Given the description of an element on the screen output the (x, y) to click on. 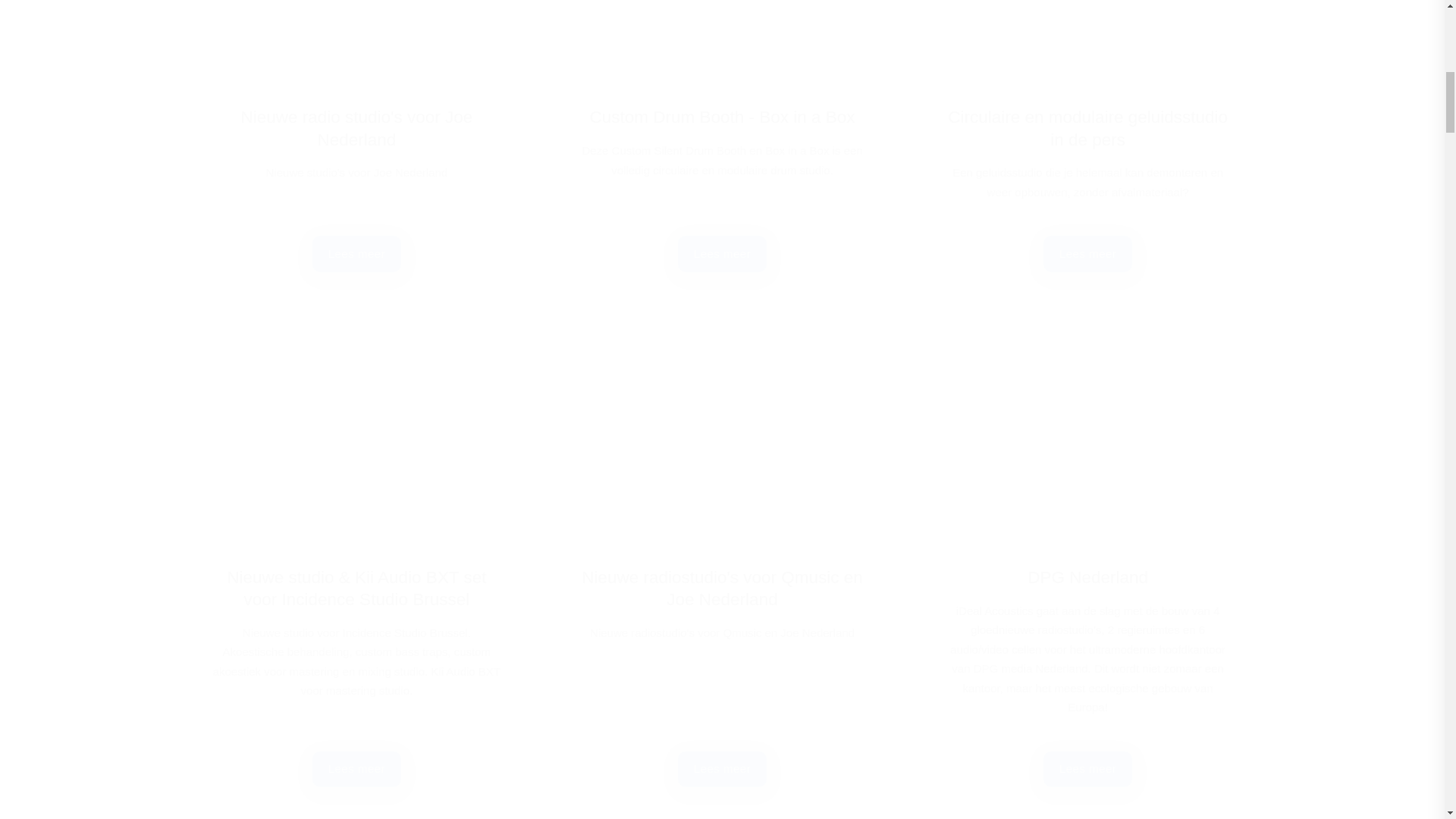
Custom Drum Booth - Box in a Box (721, 135)
Circulaire en modulaire geluidsstudio in de pers (1088, 135)
Nieuwe radio studio's voor Joe Nederland (355, 135)
